Given the description of an element on the screen output the (x, y) to click on. 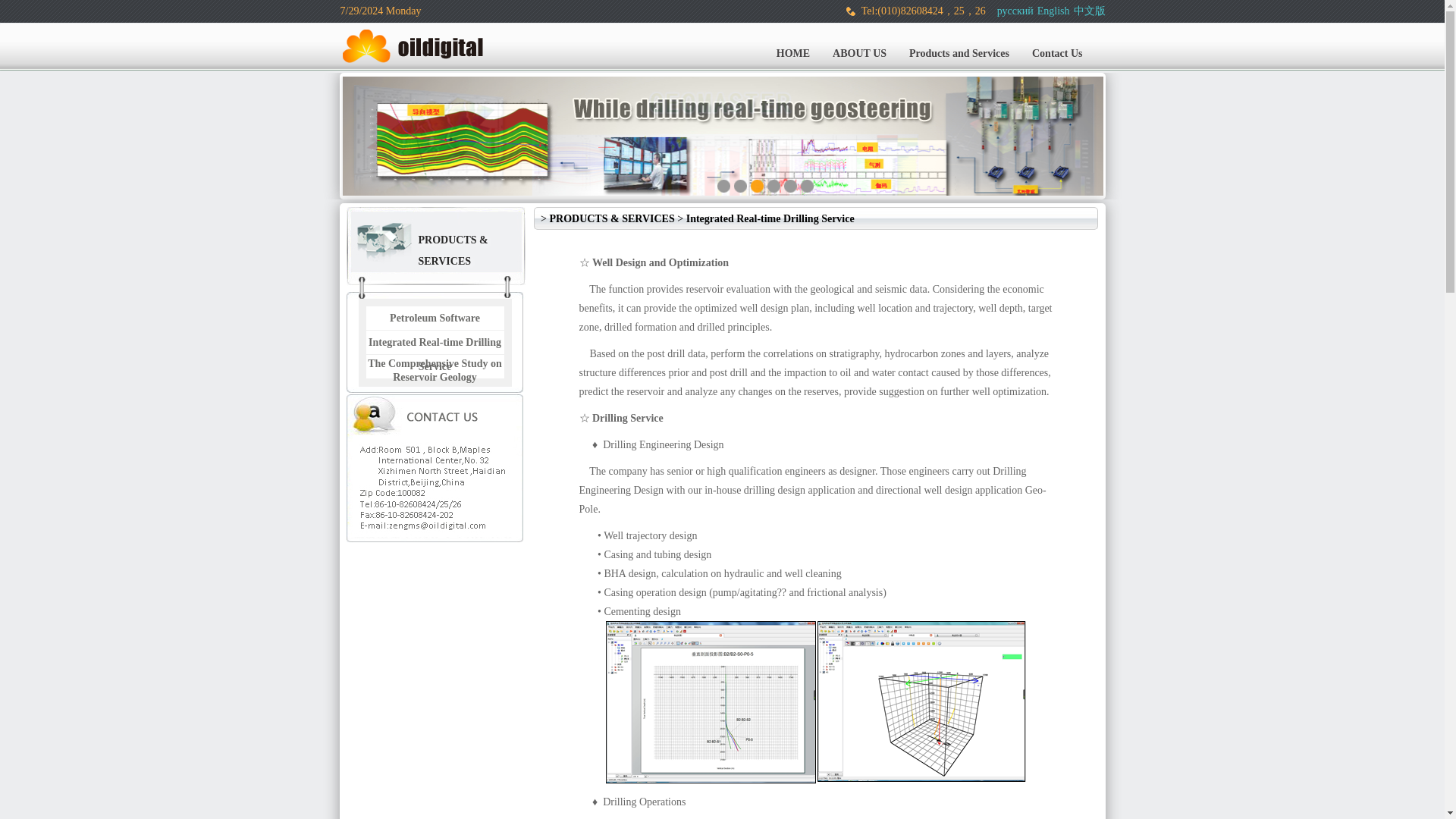
Contact Us (1057, 53)
Petroleum Software (435, 317)
Products and Services (959, 53)
English (1053, 11)
ABOUT US (859, 53)
Integrated Real-time Drilling Service (434, 354)
The Comprehensive Study on Reservoir Geology (435, 370)
HOME (793, 53)
